Given the description of an element on the screen output the (x, y) to click on. 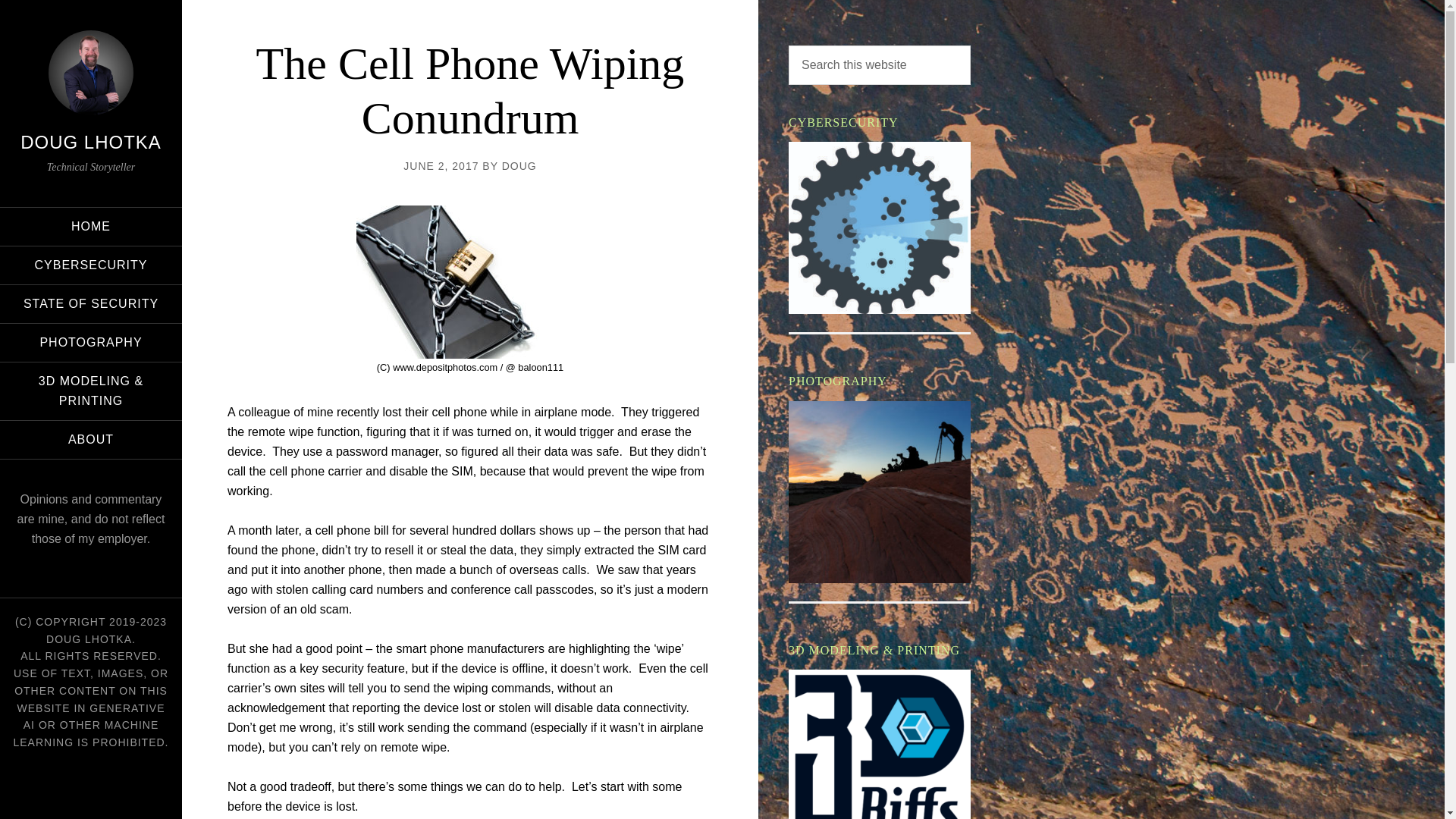
CYBERSECURITY (91, 265)
STATE OF SECURITY (91, 303)
HOME (91, 226)
The Cell Phone Wiping Conundrum (470, 90)
PHOTOGRAPHY (91, 342)
DOUG LHOTKA (90, 141)
ABOUT (91, 439)
DOUG (519, 165)
